Given the description of an element on the screen output the (x, y) to click on. 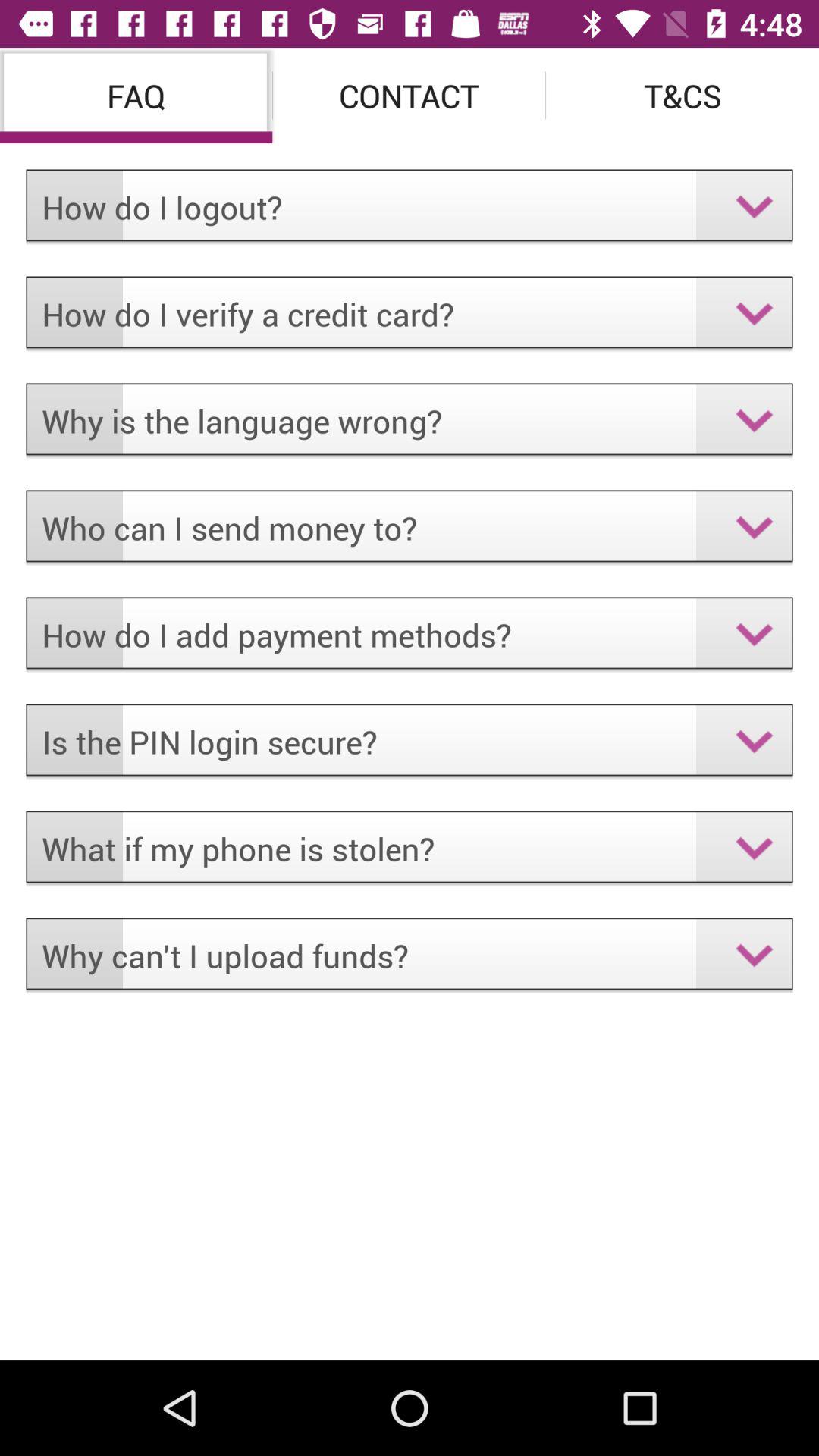
open the item to the right of the faq item (409, 95)
